Given the description of an element on the screen output the (x, y) to click on. 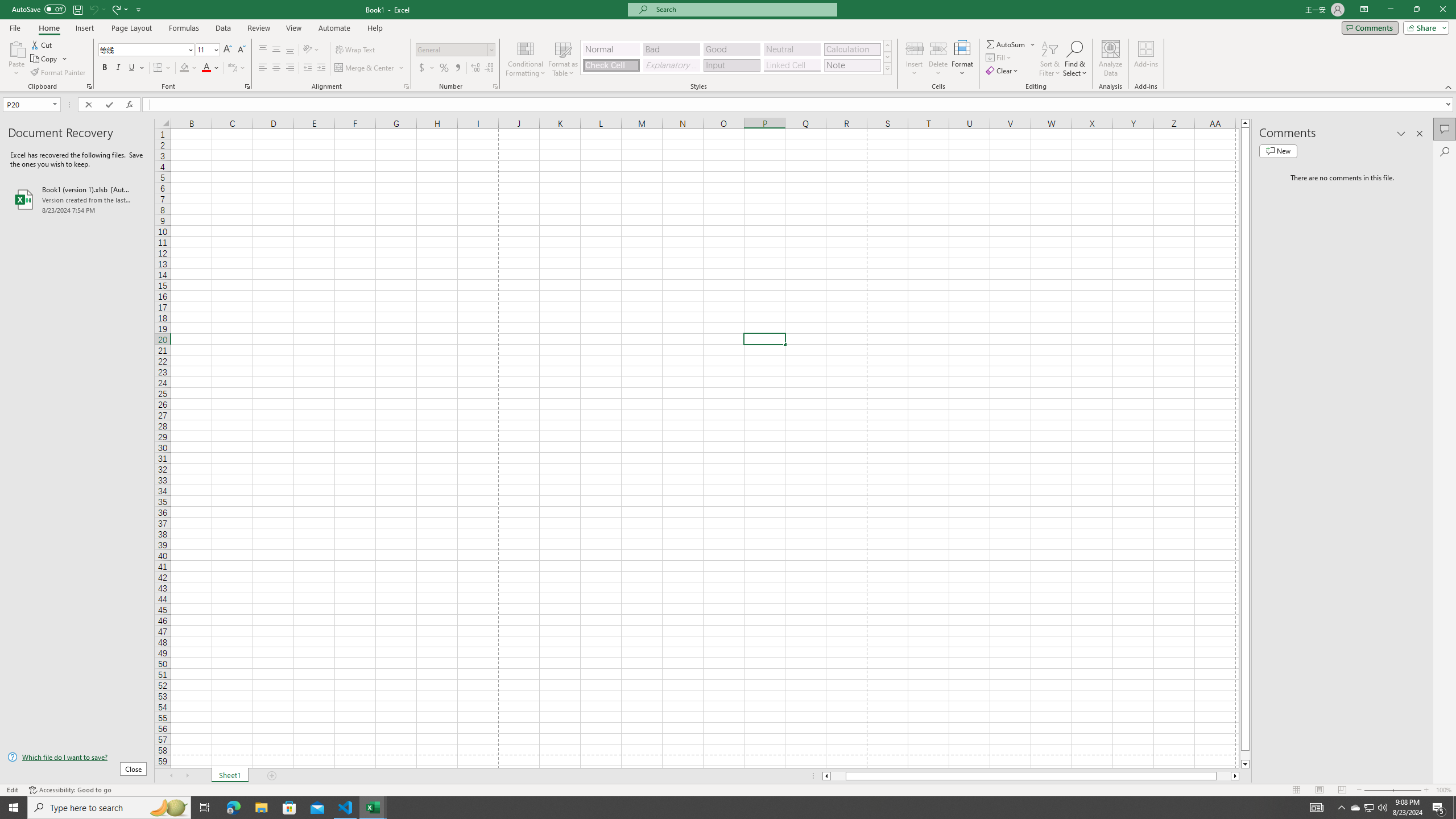
Class: MsoCommandBar (728, 45)
Scroll Left (171, 775)
Middle Align (276, 49)
Find & Select (1075, 58)
Redo (119, 9)
Borders (162, 67)
Undo (96, 9)
Show Phonetic Field (236, 67)
Fill Color RGB(255, 255, 0) (183, 67)
Accounting Number Format (422, 67)
Insert (83, 28)
Scroll Right (187, 775)
Sheet1 (229, 775)
More Options (1033, 44)
Paste (16, 48)
